Given the description of an element on the screen output the (x, y) to click on. 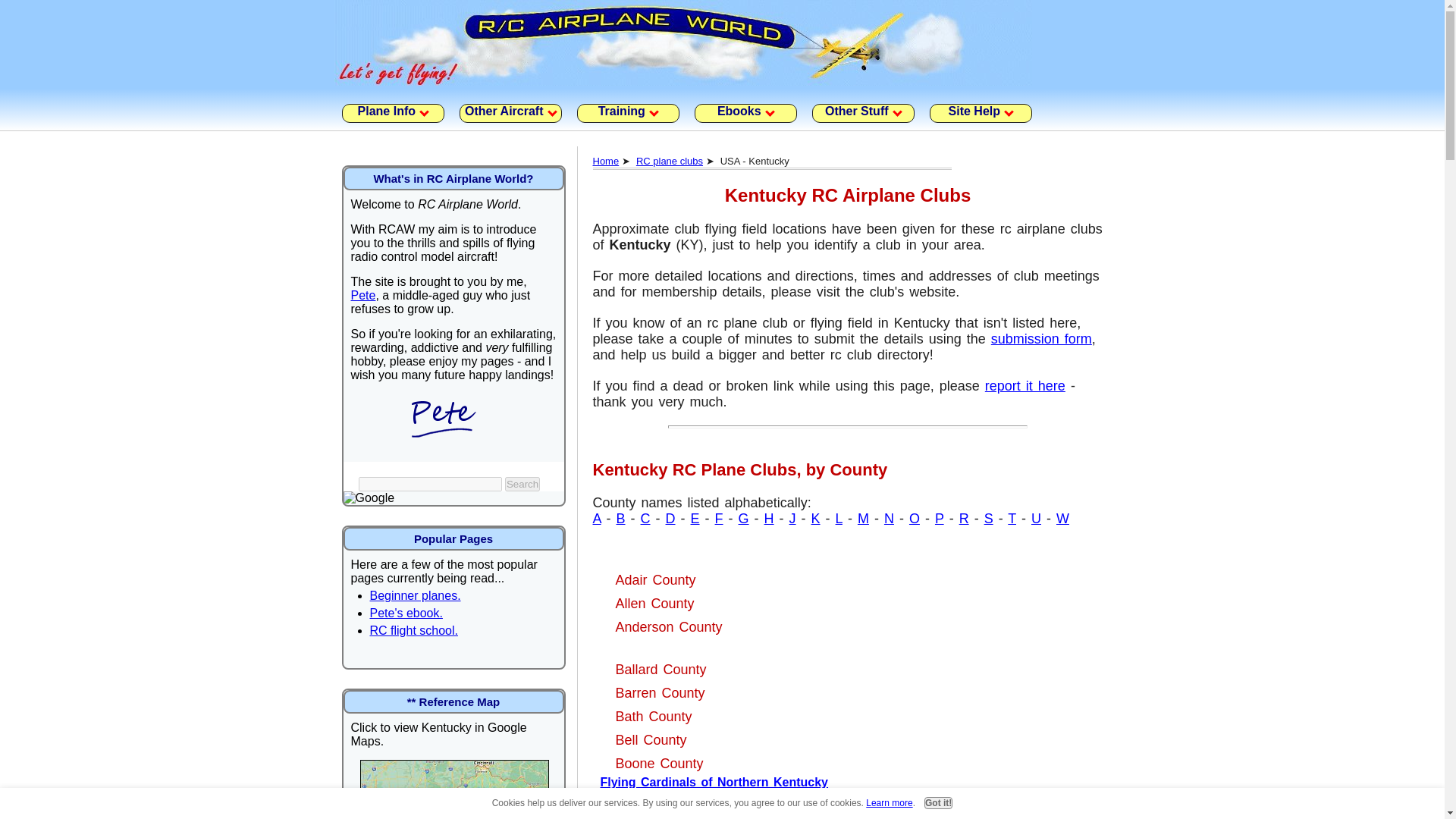
Search (522, 483)
Training  (627, 113)
Ebooks  (745, 113)
Plane Info  (392, 113)
Other Stuff  (862, 113)
Other Aircraft  (511, 113)
